Given the description of an element on the screen output the (x, y) to click on. 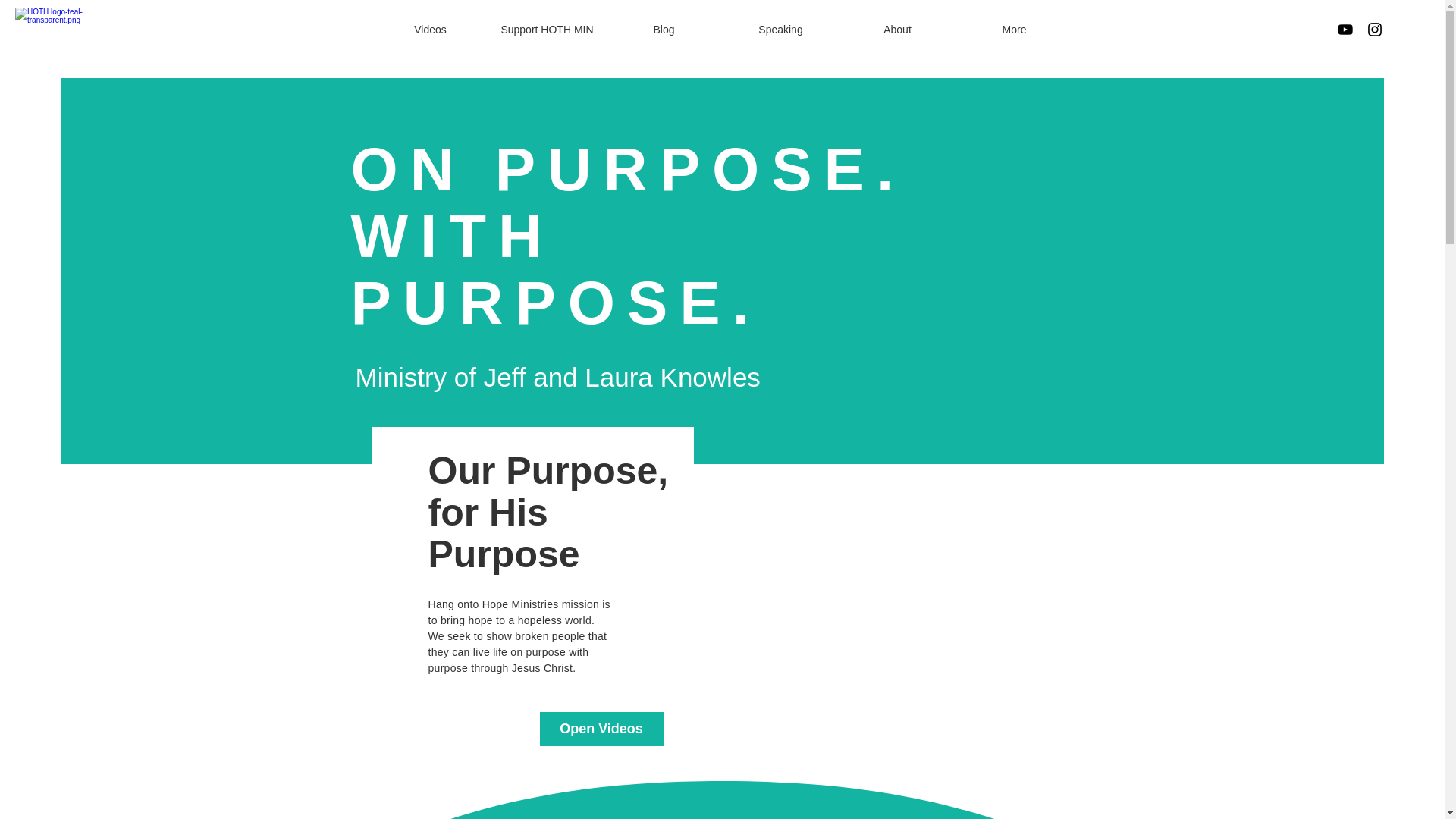
Open Videos (601, 728)
Blog (663, 29)
Support HOTH MIN (546, 29)
Videos (429, 29)
Speaking (780, 29)
About (896, 29)
